Given the description of an element on the screen output the (x, y) to click on. 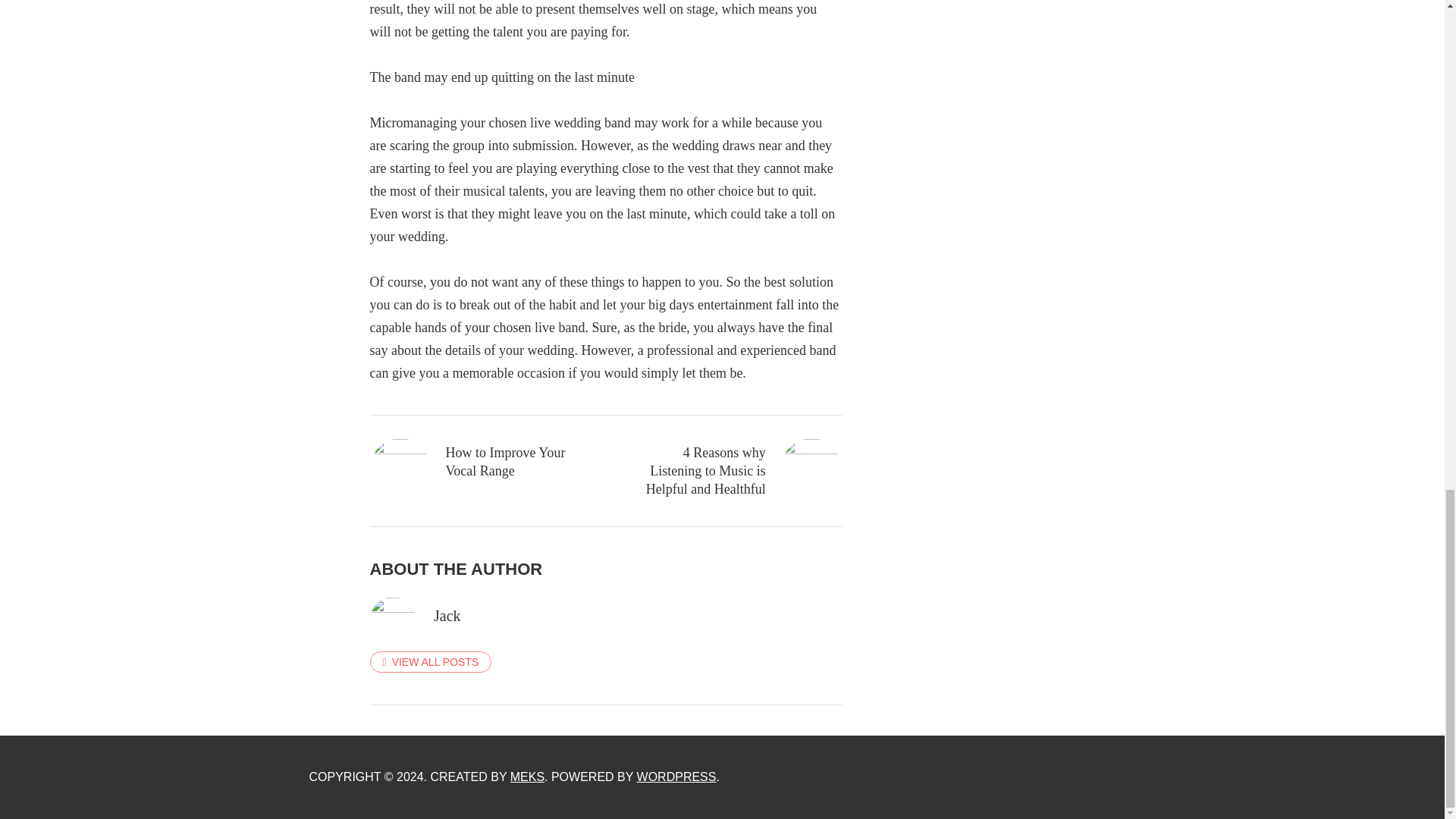
How to Improve Your Vocal Range (476, 461)
4 Reasons why Listening to Music is Helpful and Healthful (734, 470)
VIEW ALL POSTS (430, 661)
MEKS (527, 776)
WORDPRESS (676, 776)
